Given the description of an element on the screen output the (x, y) to click on. 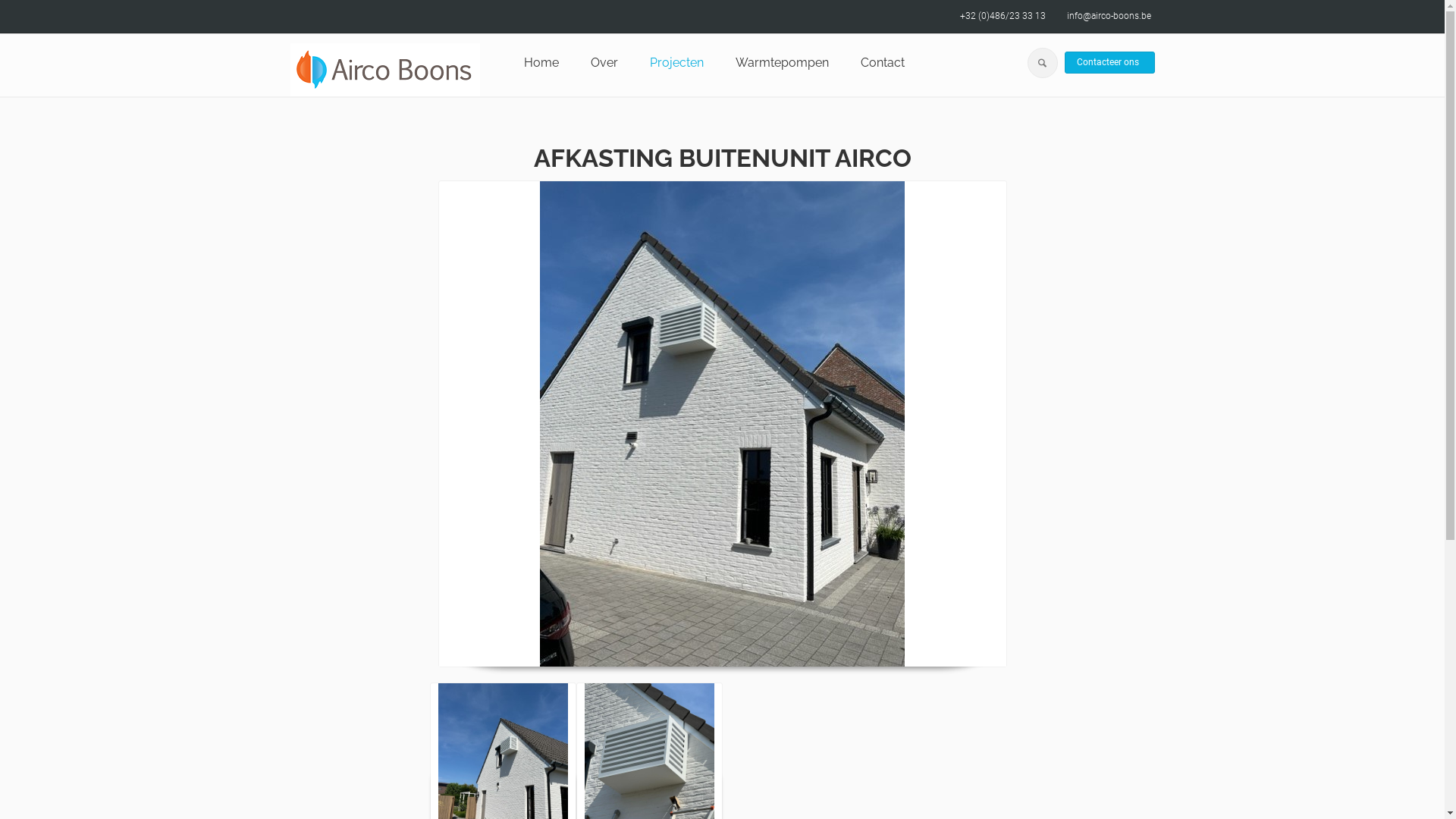
Contact Element type: text (882, 62)
Over Element type: text (604, 62)
Contacteer ons Element type: text (1109, 62)
Home Element type: text (541, 62)
Warmtepompen Element type: text (781, 62)
Projecten Element type: text (676, 62)
